Given the description of an element on the screen output the (x, y) to click on. 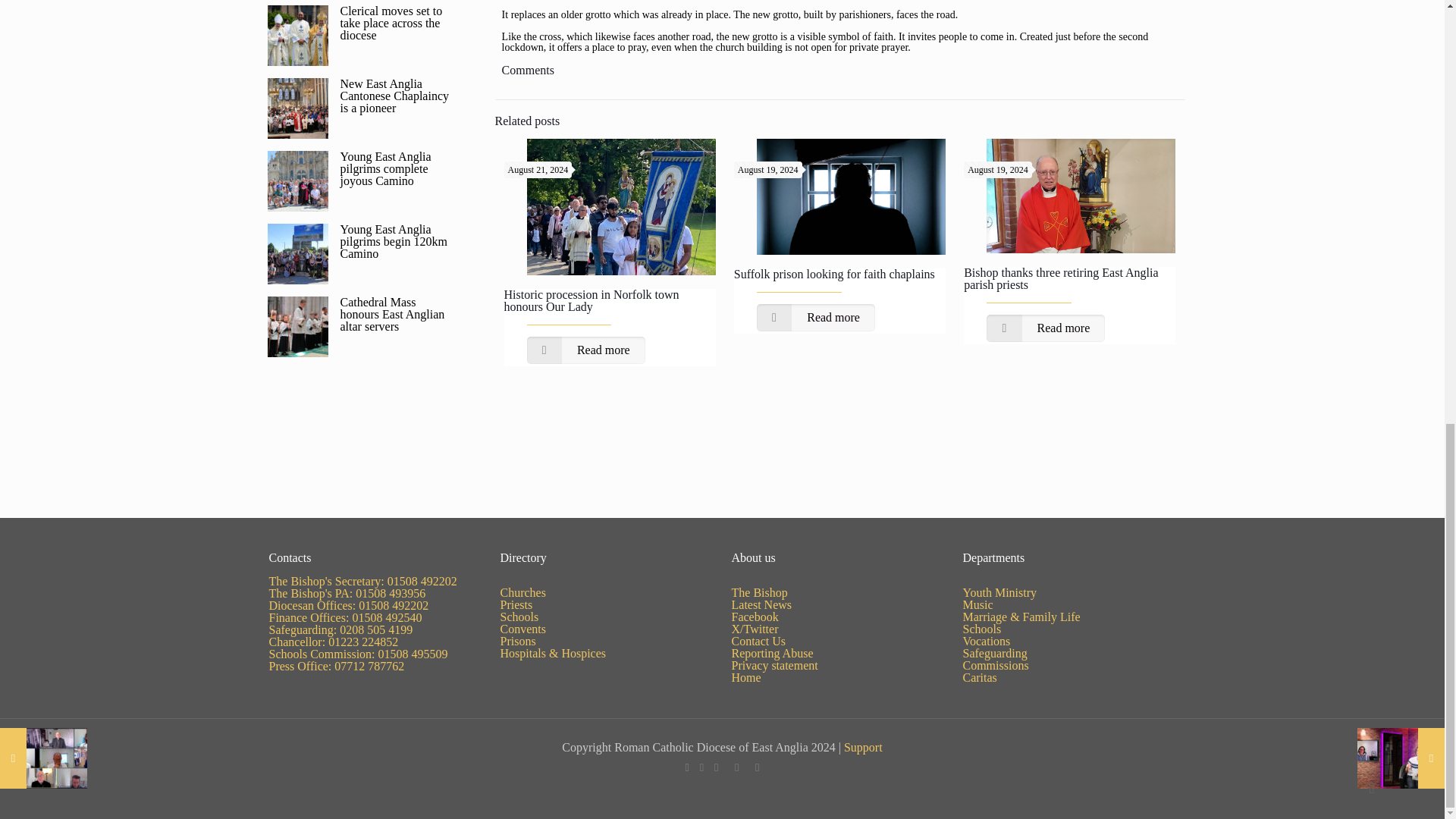
RSS (757, 767)
Facebook (687, 767)
YouTube (715, 767)
Flickr (736, 767)
